Given the description of an element on the screen output the (x, y) to click on. 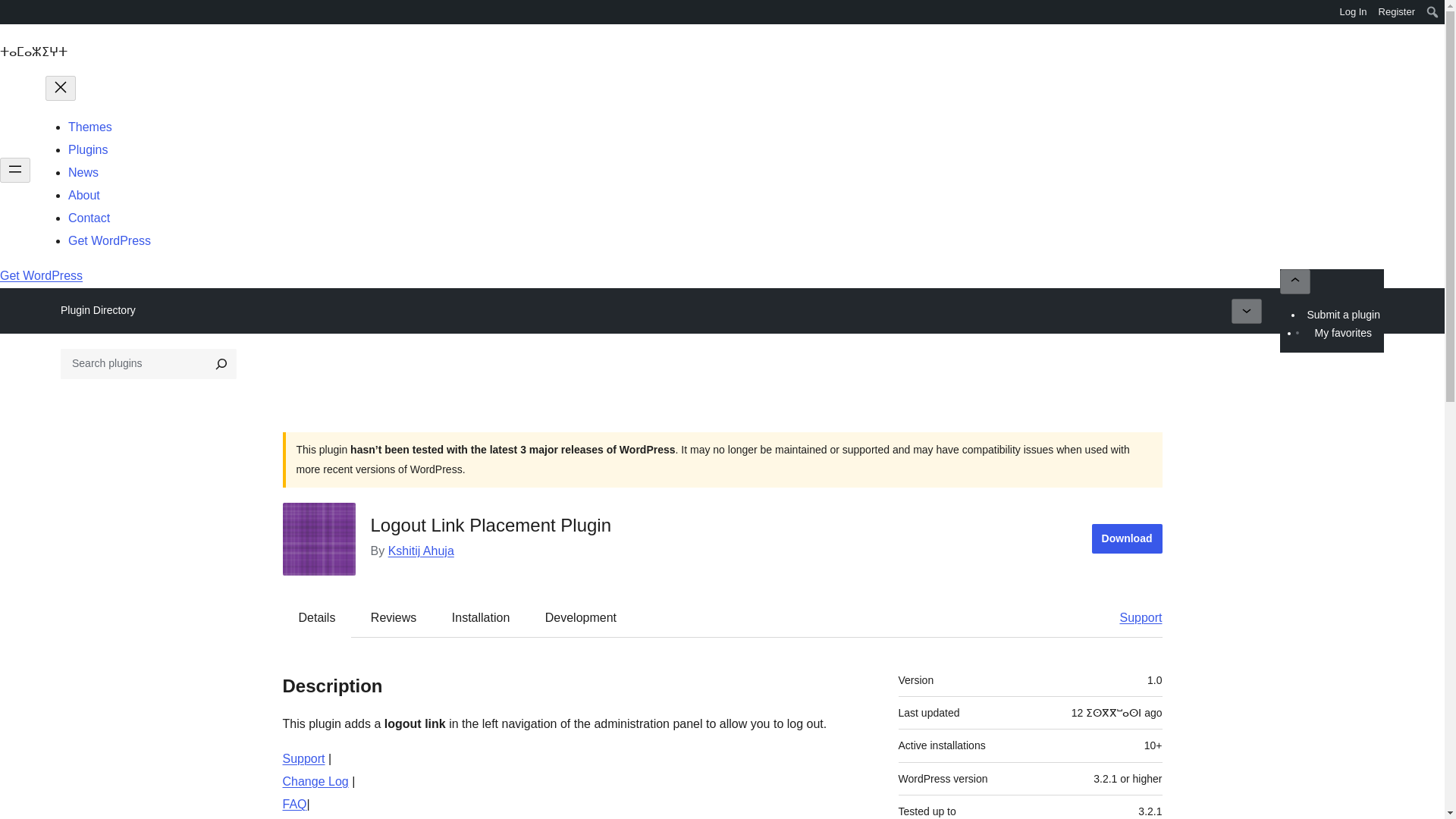
Installation (480, 617)
Kshitij Ahuja (421, 550)
Plugin Directory (97, 310)
Log In (1353, 12)
Download (1126, 538)
Support (1132, 617)
Support (303, 758)
Get WordPress (109, 240)
Reviews (392, 617)
Register (1397, 12)
Plugins (87, 149)
Contact (89, 217)
WordPress.org (10, 10)
Details (316, 617)
My favorites (1342, 332)
